Given the description of an element on the screen output the (x, y) to click on. 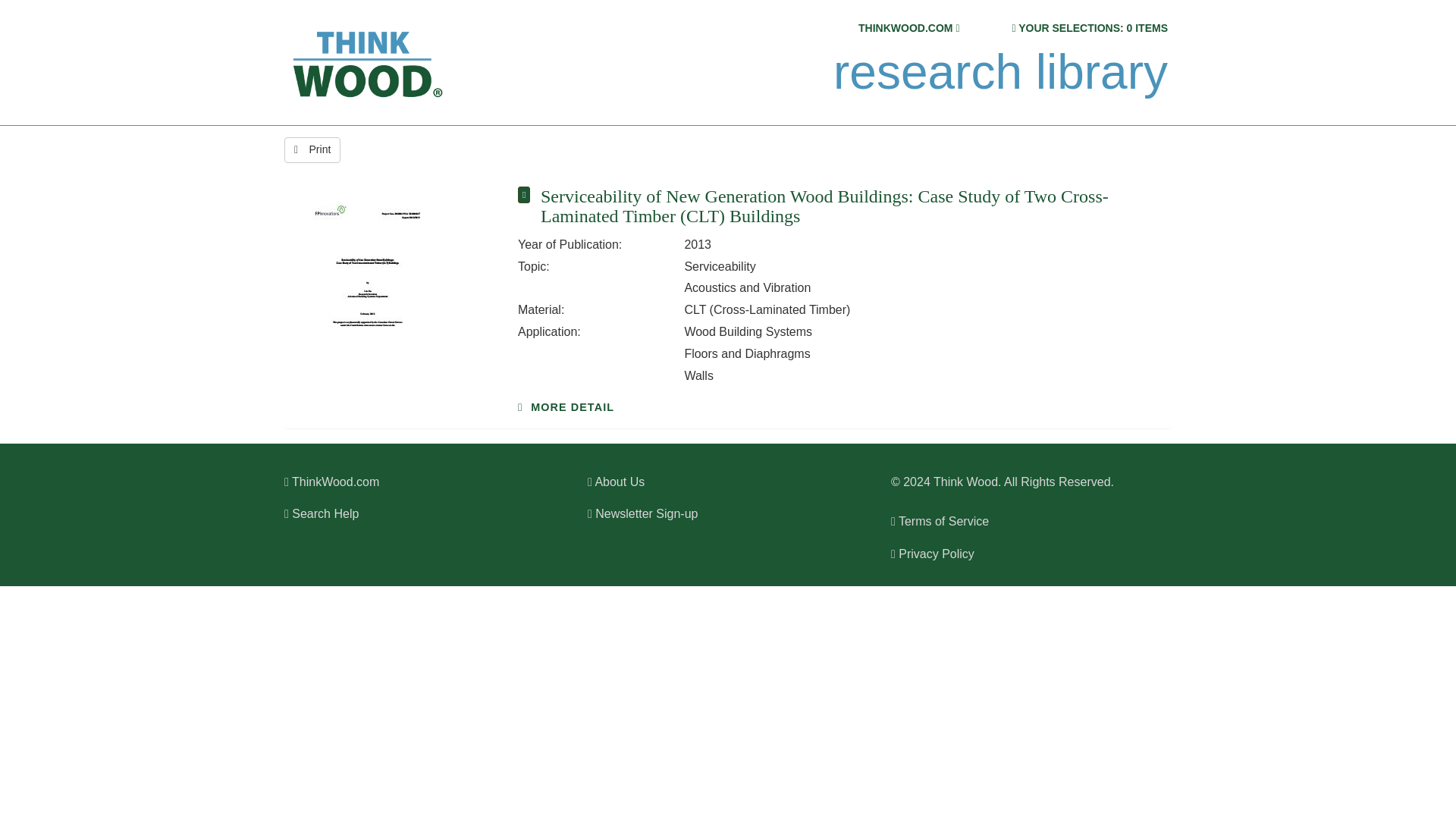
THINKWOOD.COM (905, 28)
research library (999, 72)
 Privacy Policy (932, 553)
YOUR SELECTIONS: 0 ITEMS (1092, 28)
 About Us (616, 481)
 Newsletter Sign-up (642, 513)
 ThinkWood.com (330, 481)
MORE DETAIL (566, 407)
Print (311, 149)
 Search Help (320, 513)
 Terms of Service (939, 521)
Toggle Full Record (849, 206)
